Given the description of an element on the screen output the (x, y) to click on. 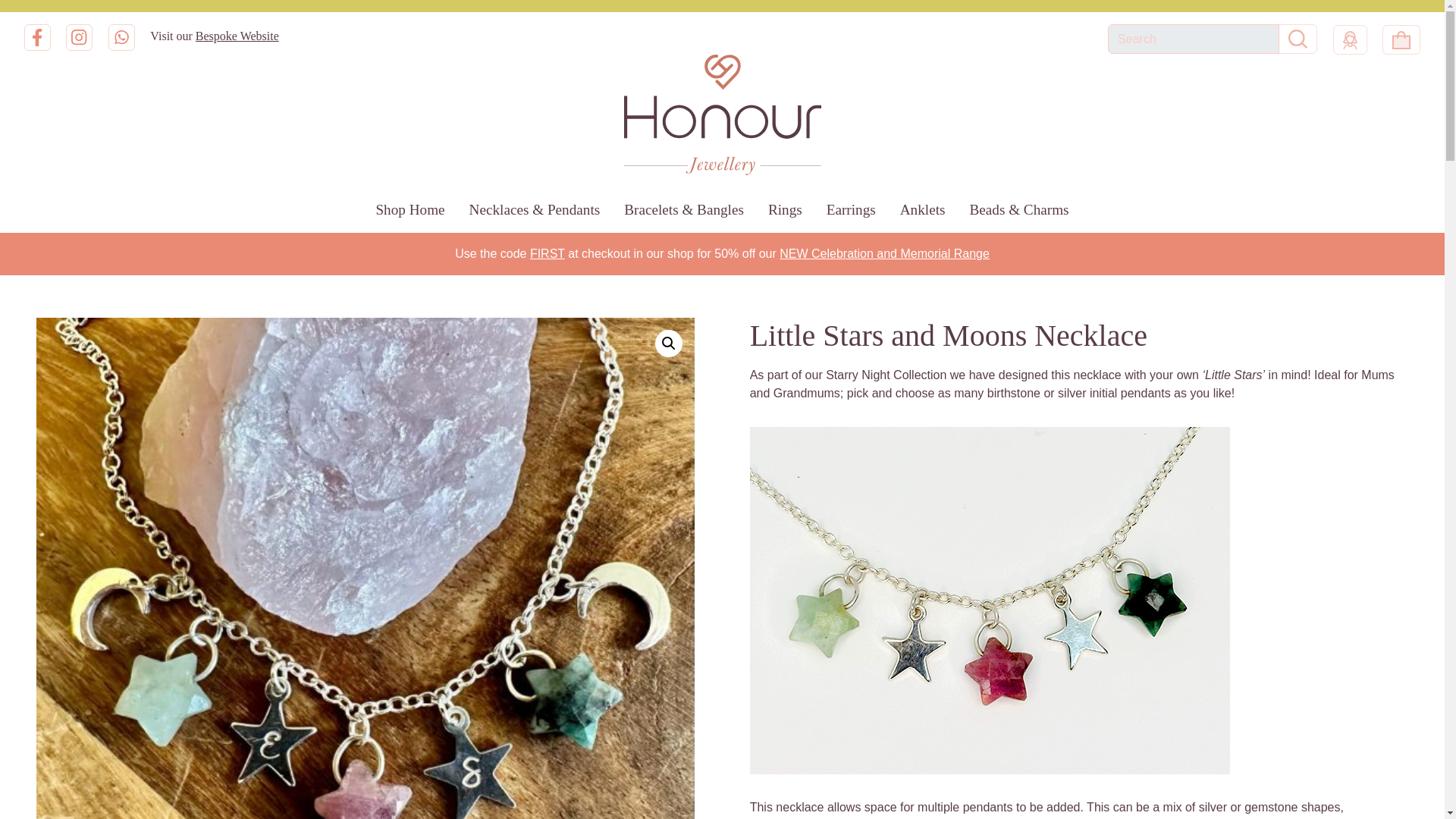
Search (1297, 39)
Bespoke Website (237, 35)
Cart (1401, 39)
Earrings (850, 209)
Anklets (923, 209)
Account (1346, 38)
Cart (1398, 38)
FIRST (546, 253)
Account (1350, 39)
Rings (784, 209)
Shop Home (409, 209)
NEW Celebration and Memorial Range (884, 253)
